Given the description of an element on the screen output the (x, y) to click on. 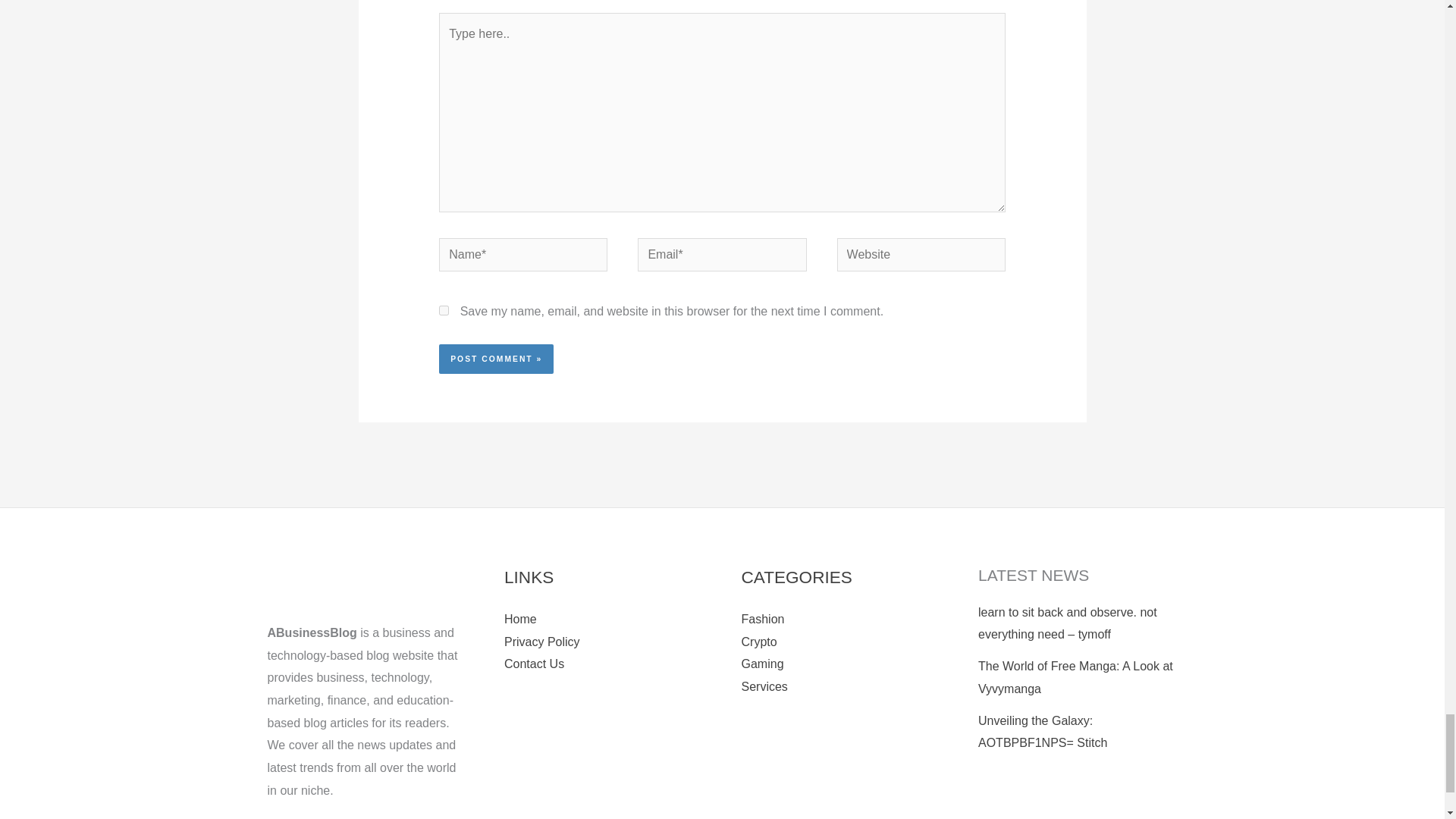
Gaming (762, 663)
Privacy Policy (541, 641)
yes (443, 310)
Services (764, 686)
Contact Us (533, 663)
Fashion (762, 618)
Home (520, 618)
Crypto (759, 641)
